Given the description of an element on the screen output the (x, y) to click on. 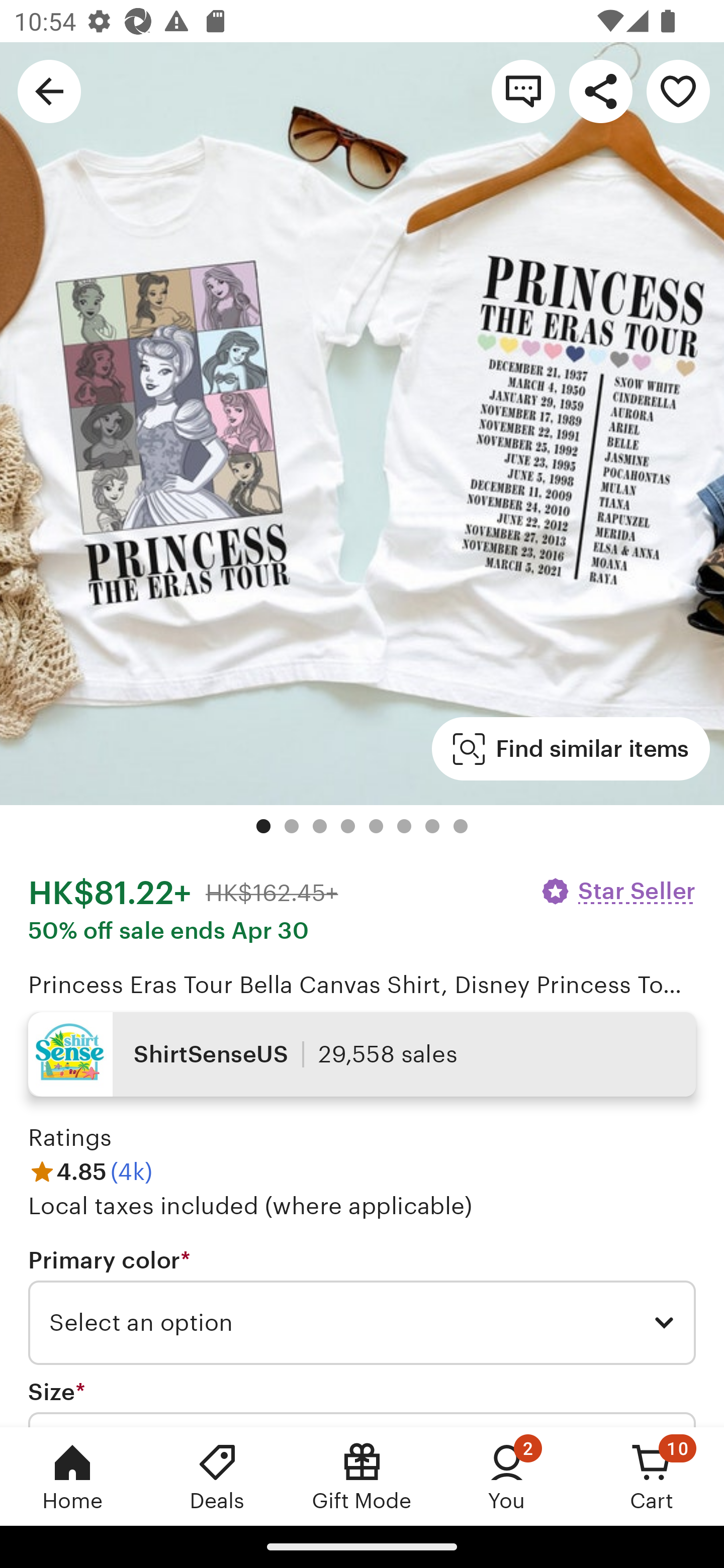
Navigate up (49, 90)
Contact shop (523, 90)
Share (600, 90)
Find similar items (571, 748)
Star Seller (617, 890)
ShirtSenseUS 29,558 sales (361, 1054)
Ratings (70, 1137)
4.85 (4k) (90, 1171)
Primary color * Required Select an option (361, 1306)
Select an option (361, 1323)
Size * Required Select an option (361, 1402)
Deals (216, 1475)
Gift Mode (361, 1475)
You, 2 new notifications You (506, 1475)
Cart, 10 new notifications Cart (651, 1475)
